Given the description of an element on the screen output the (x, y) to click on. 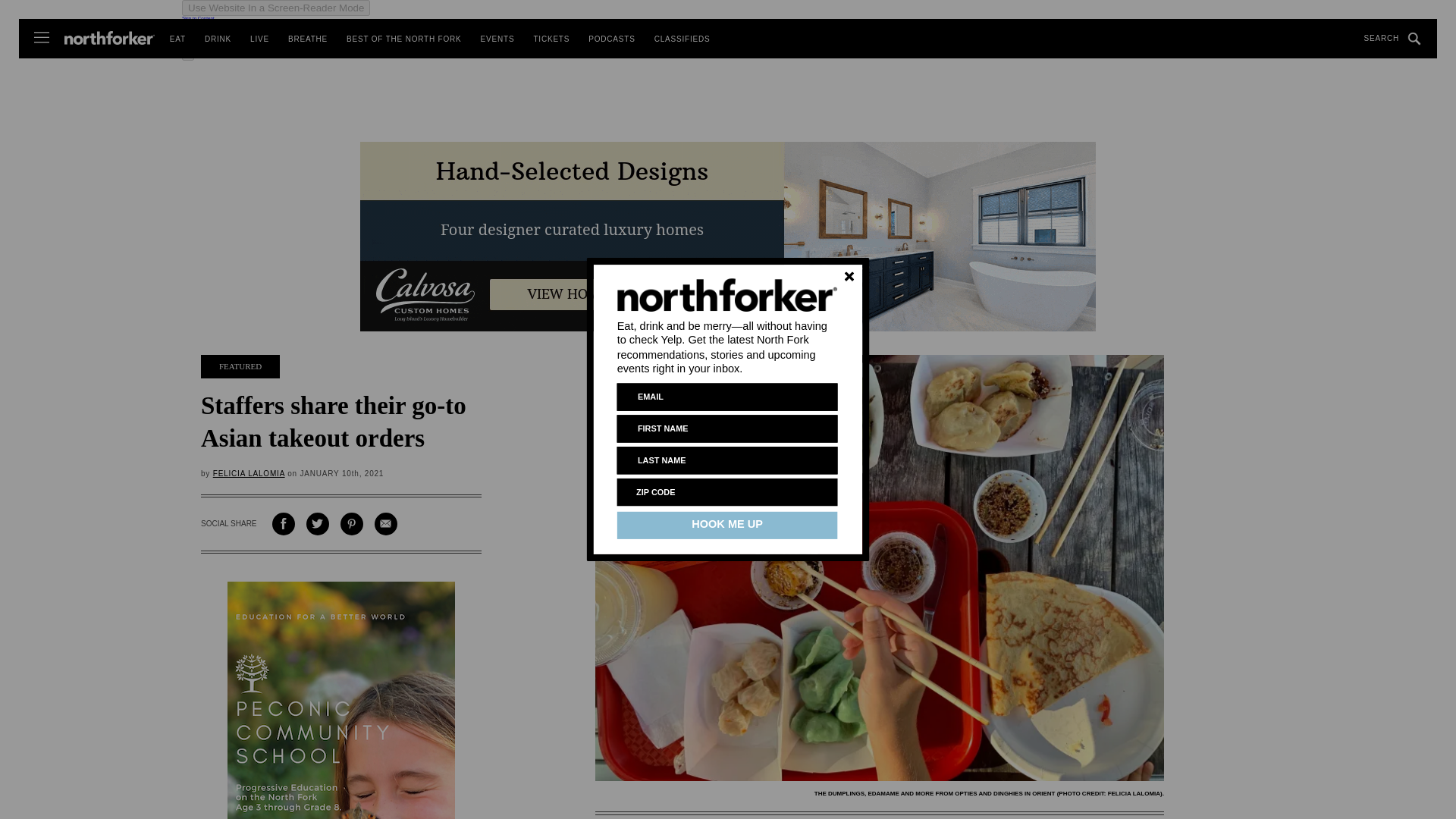
PODCASTS (611, 39)
LIVE (259, 39)
DRINK (218, 39)
EVENTS (497, 39)
EAT (178, 39)
BREATHE (307, 39)
TICKETS (550, 39)
Share on Facebook. (283, 523)
BEST OF THE NORTH FORK (403, 39)
Peconic Community School (340, 700)
Tweet this! (317, 523)
Share via email. (385, 523)
Share via pinterest. (351, 523)
CLASSIFIEDS (681, 39)
